Given the description of an element on the screen output the (x, y) to click on. 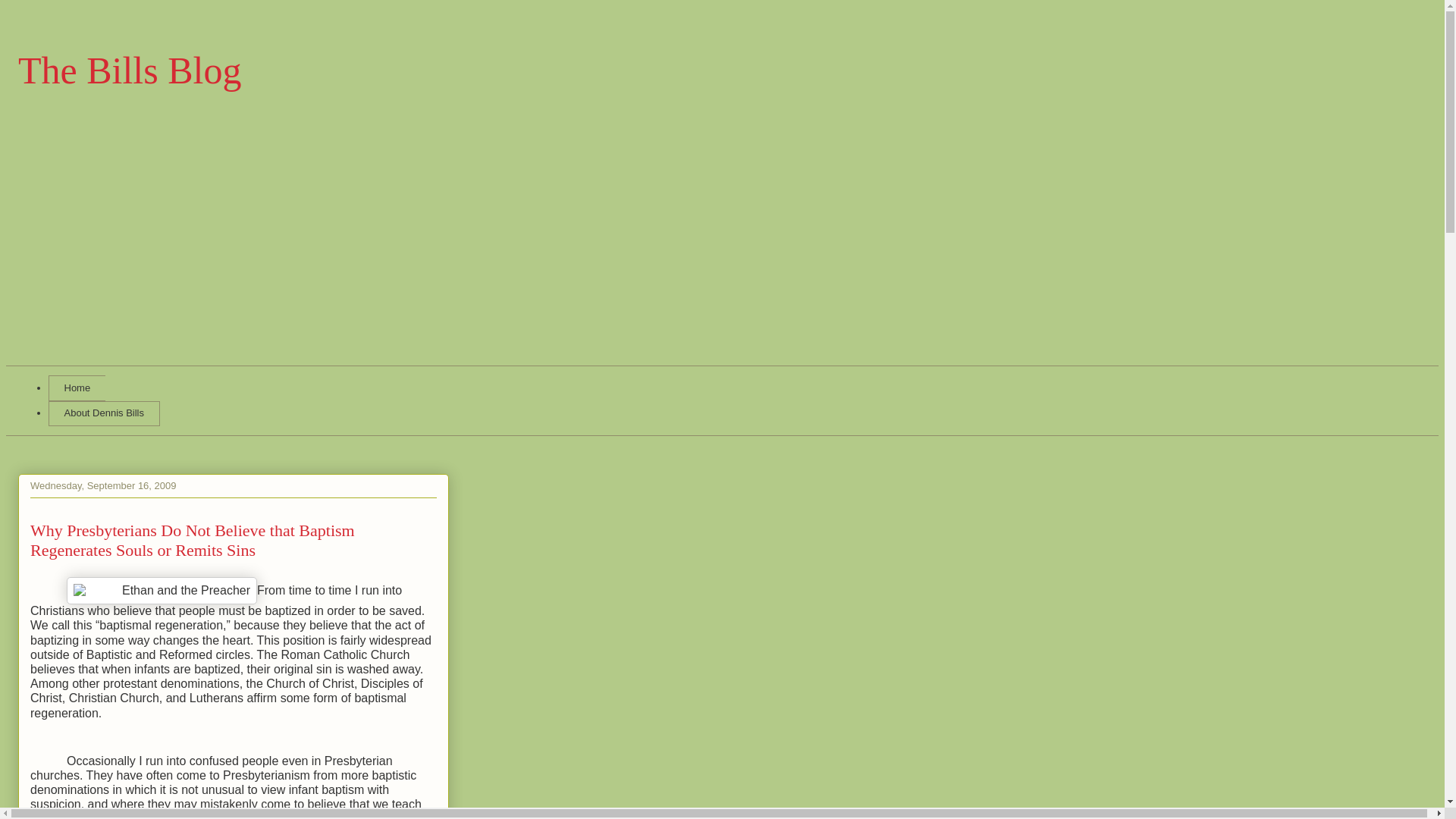
Ethan and the Preacher (161, 590)
Home (76, 388)
About Dennis Bills (104, 413)
The Bills Blog (129, 69)
